Given the description of an element on the screen output the (x, y) to click on. 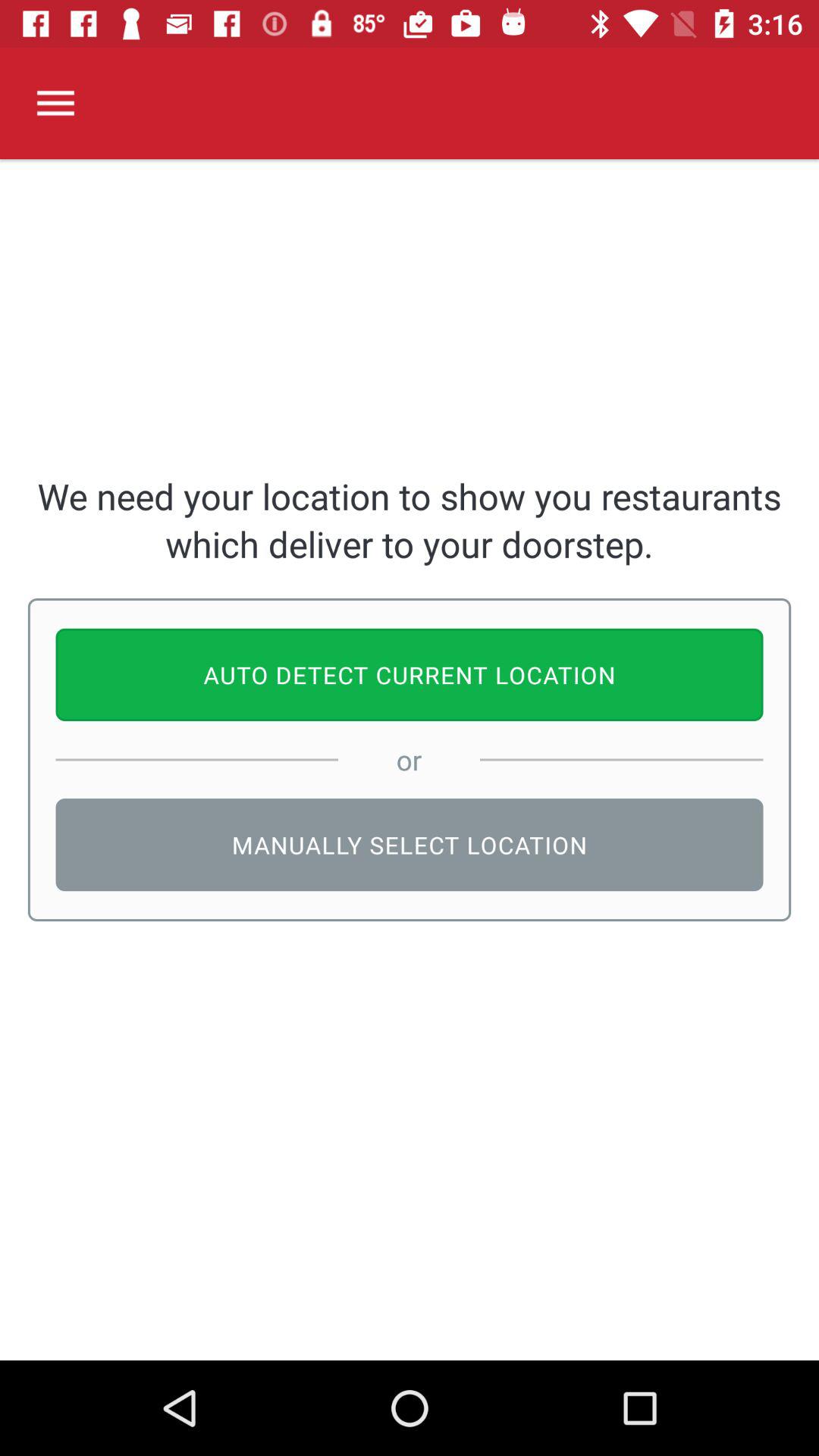
jump until auto detect current item (409, 674)
